Given the description of an element on the screen output the (x, y) to click on. 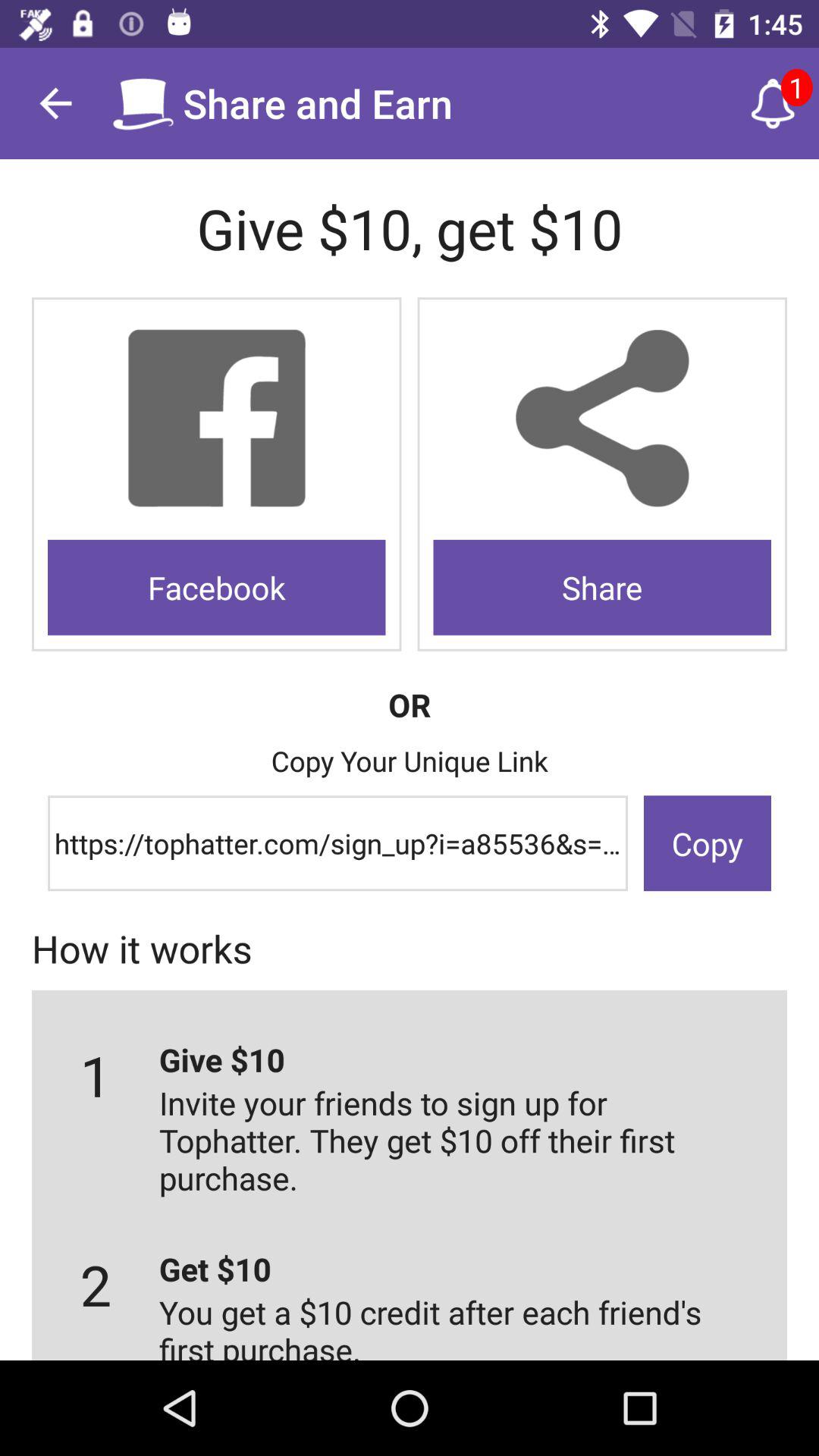
toggle facebook (216, 418)
